Given the description of an element on the screen output the (x, y) to click on. 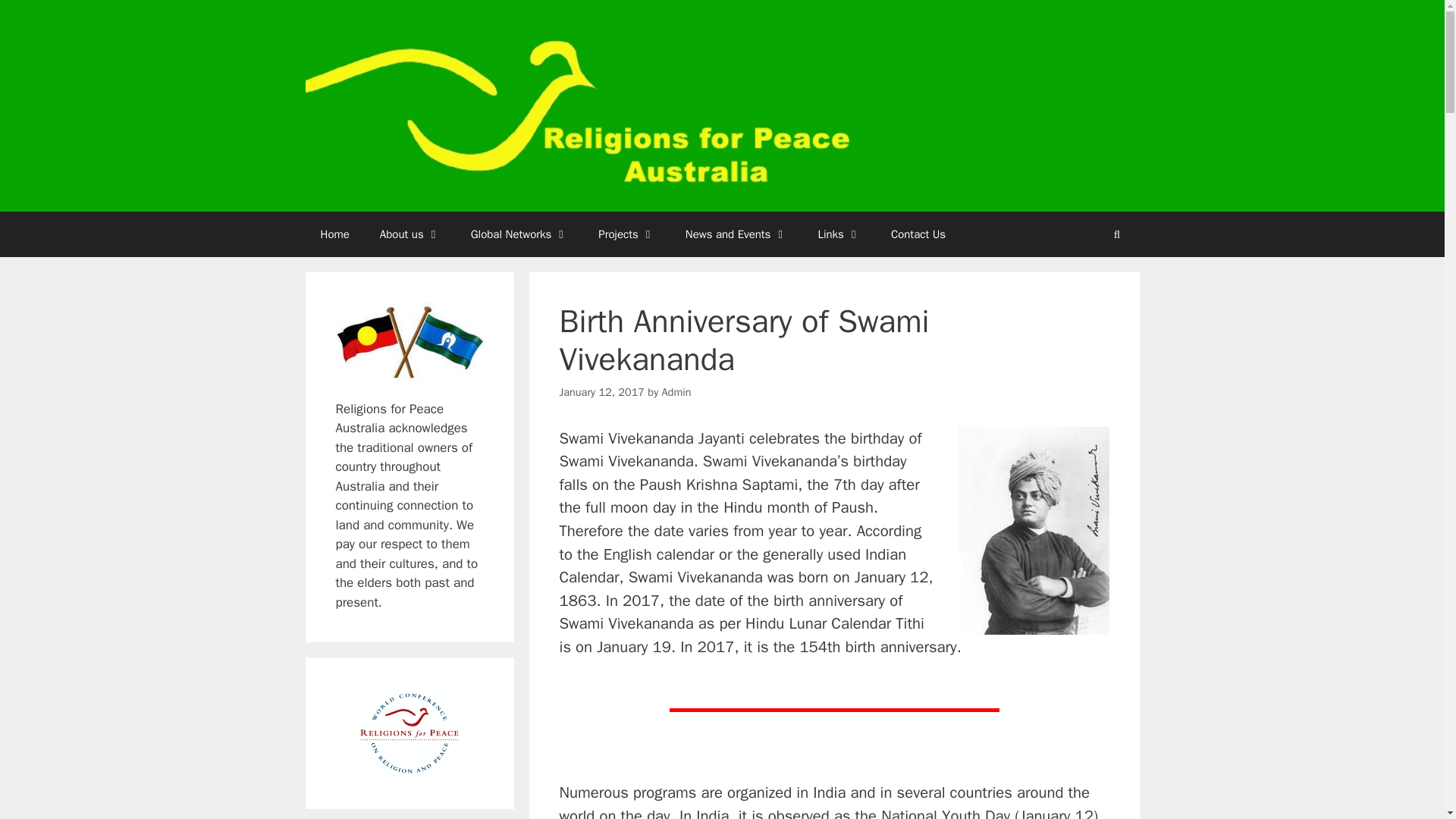
About us (410, 234)
Admin (676, 391)
Home (334, 234)
Links (838, 234)
Contact Us (918, 234)
Projects (626, 234)
View all posts by Admin (676, 391)
News and Events (736, 234)
Global Networks (519, 234)
